Given the description of an element on the screen output the (x, y) to click on. 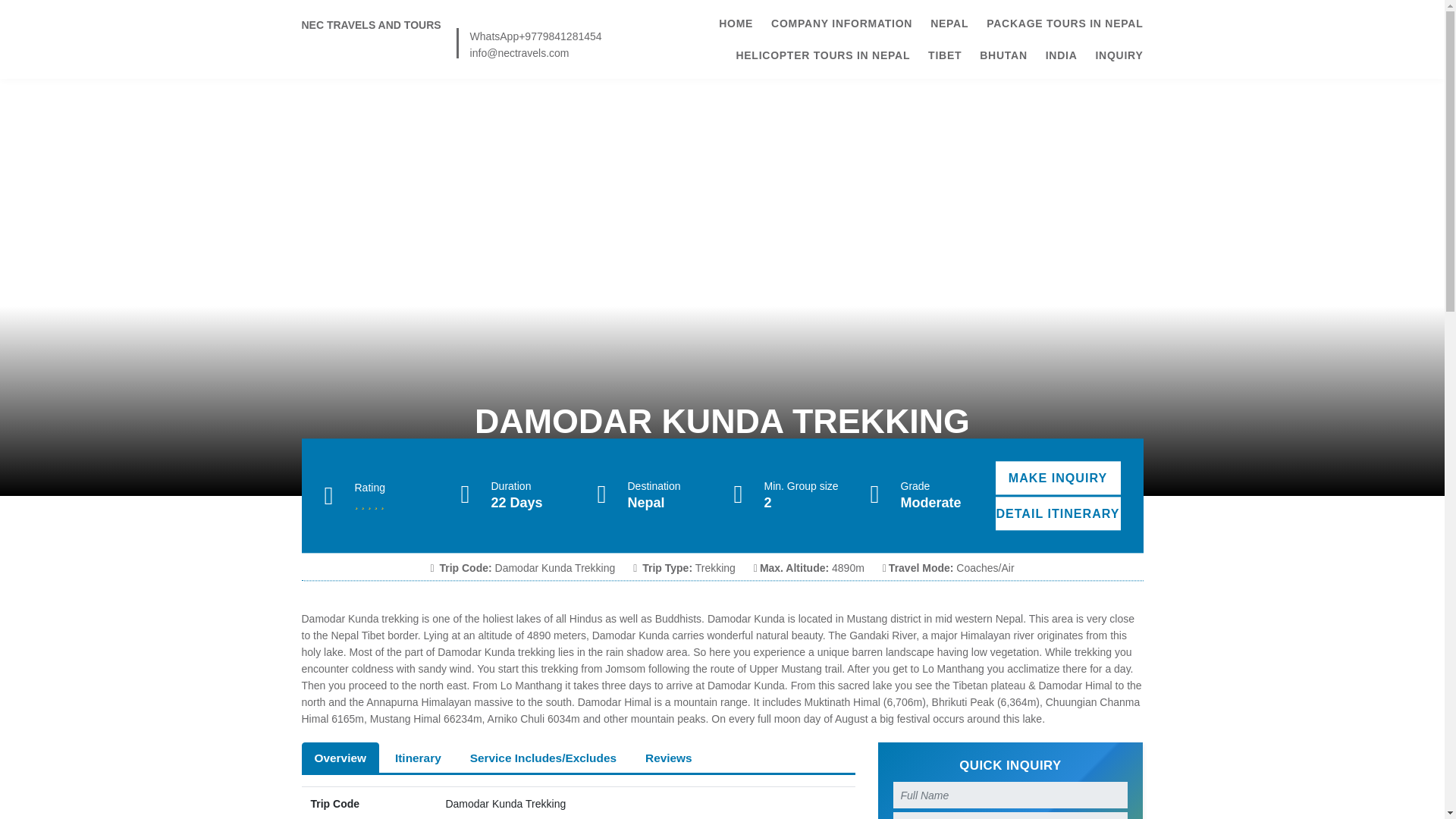
TIBET (944, 55)
MAKE INQUIRY (1057, 477)
PACKAGE TOURS IN NEPAL (1064, 23)
INDIA (1061, 55)
BHUTAN (1003, 55)
HELICOPTER TOURS IN NEPAL (822, 55)
COMPANY INFORMATION (841, 23)
NEC TRAVELS AND TOURS (371, 24)
INQUIRY (1118, 55)
HOME (735, 23)
DETAIL ITINERARY (1056, 513)
MAKE INQUIRY (1056, 477)
Overview (339, 757)
Itinerary (417, 757)
NEPAL (949, 23)
